Given the description of an element on the screen output the (x, y) to click on. 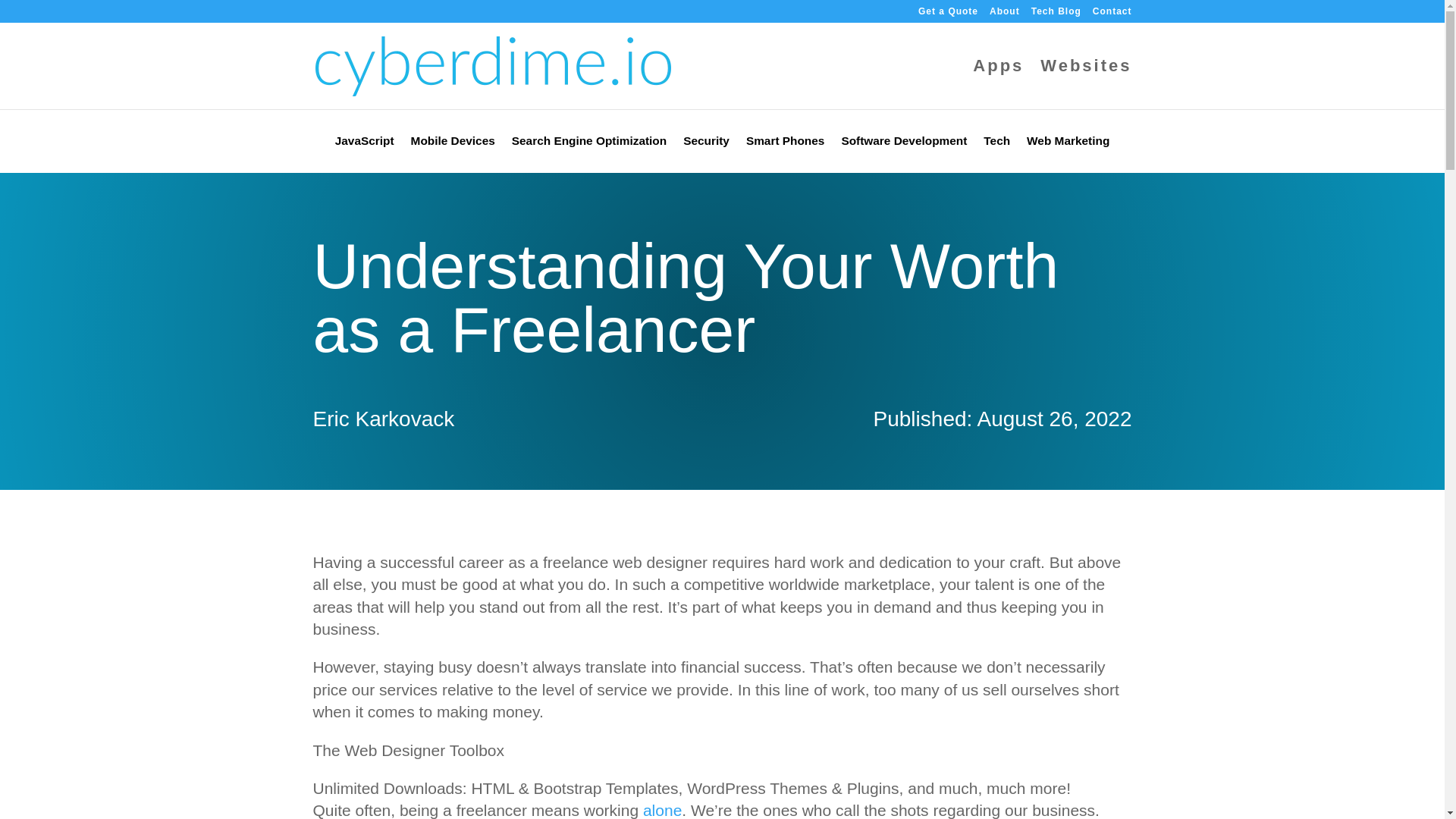
Mobile Devices (452, 143)
Tech Blog (1055, 14)
Apps (997, 84)
Search Engine Optimization (589, 143)
About (1005, 14)
Get a Quote (948, 14)
Web Marketing (1067, 143)
Software Development (903, 143)
Smart Phones (785, 143)
JavaScript (364, 143)
Websites (1086, 84)
alone (662, 810)
Contact (1112, 14)
Tech (997, 143)
Security (705, 143)
